Given the description of an element on the screen output the (x, y) to click on. 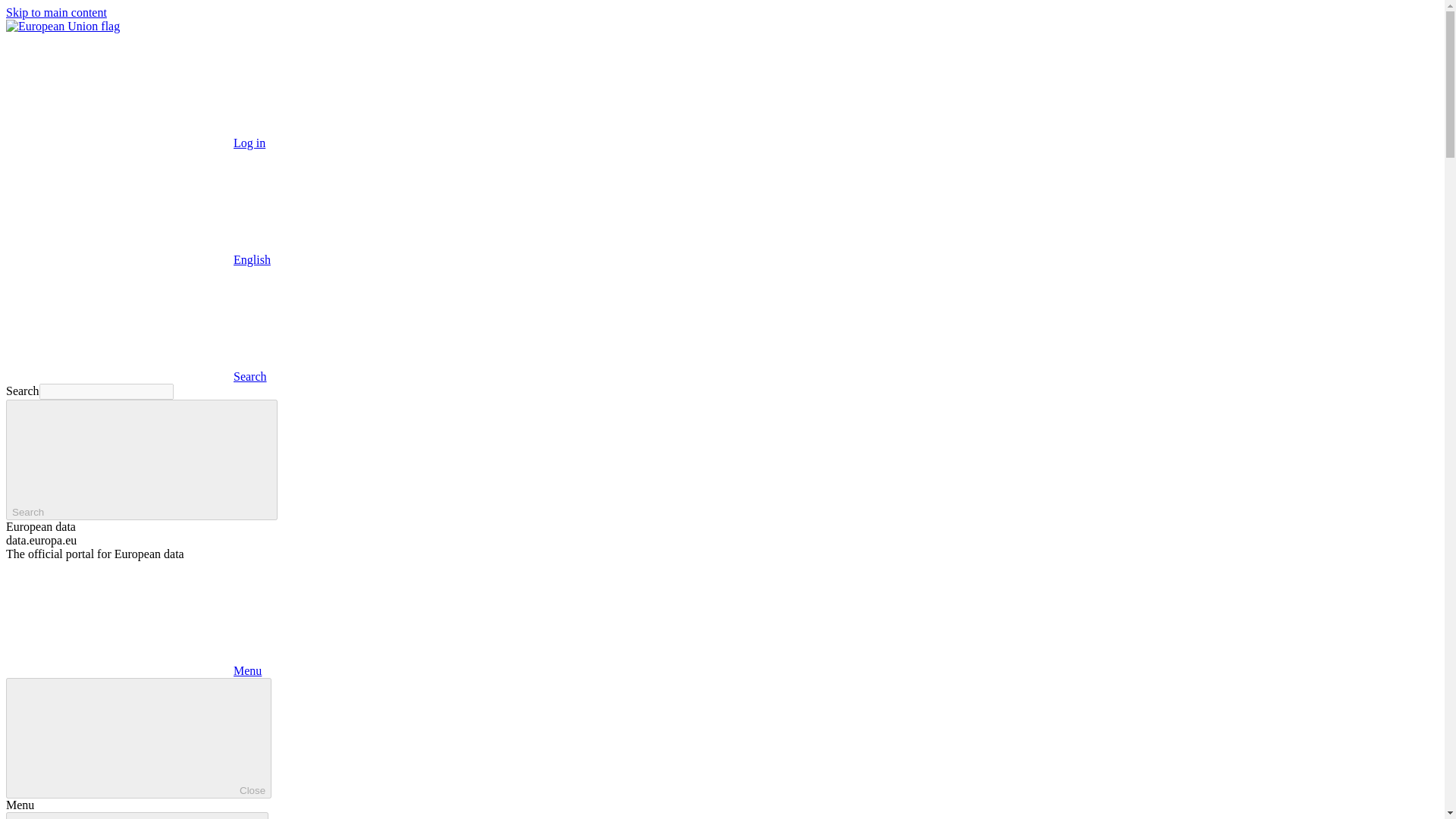
Search (135, 376)
Menu (133, 670)
Log in (134, 142)
Close (137, 738)
Search (141, 459)
European Union (62, 25)
Back (136, 815)
English (137, 259)
Skip to main content (55, 11)
